Given the description of an element on the screen output the (x, y) to click on. 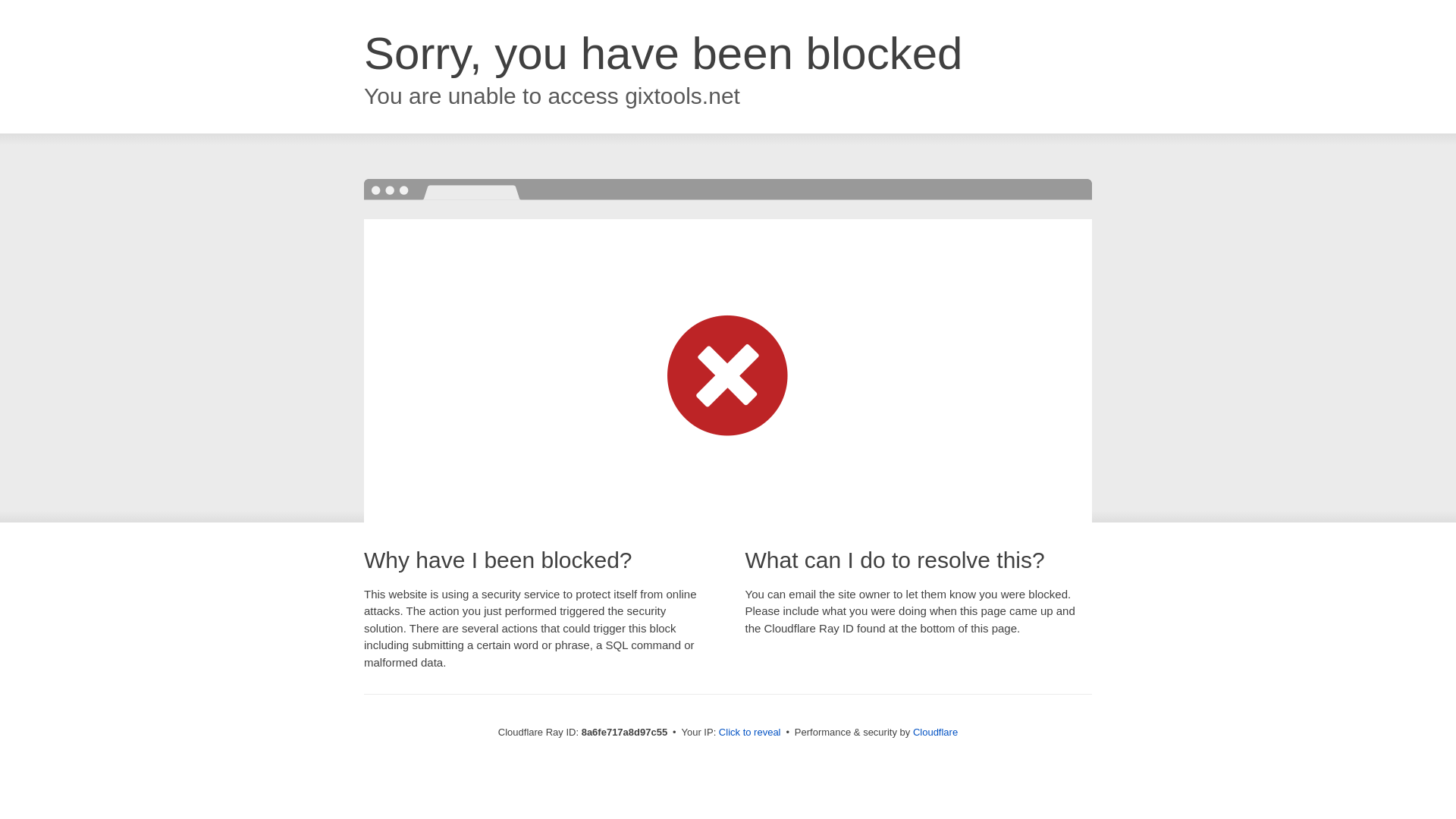
Cloudflare (935, 731)
Click to reveal (749, 732)
